Given the description of an element on the screen output the (x, y) to click on. 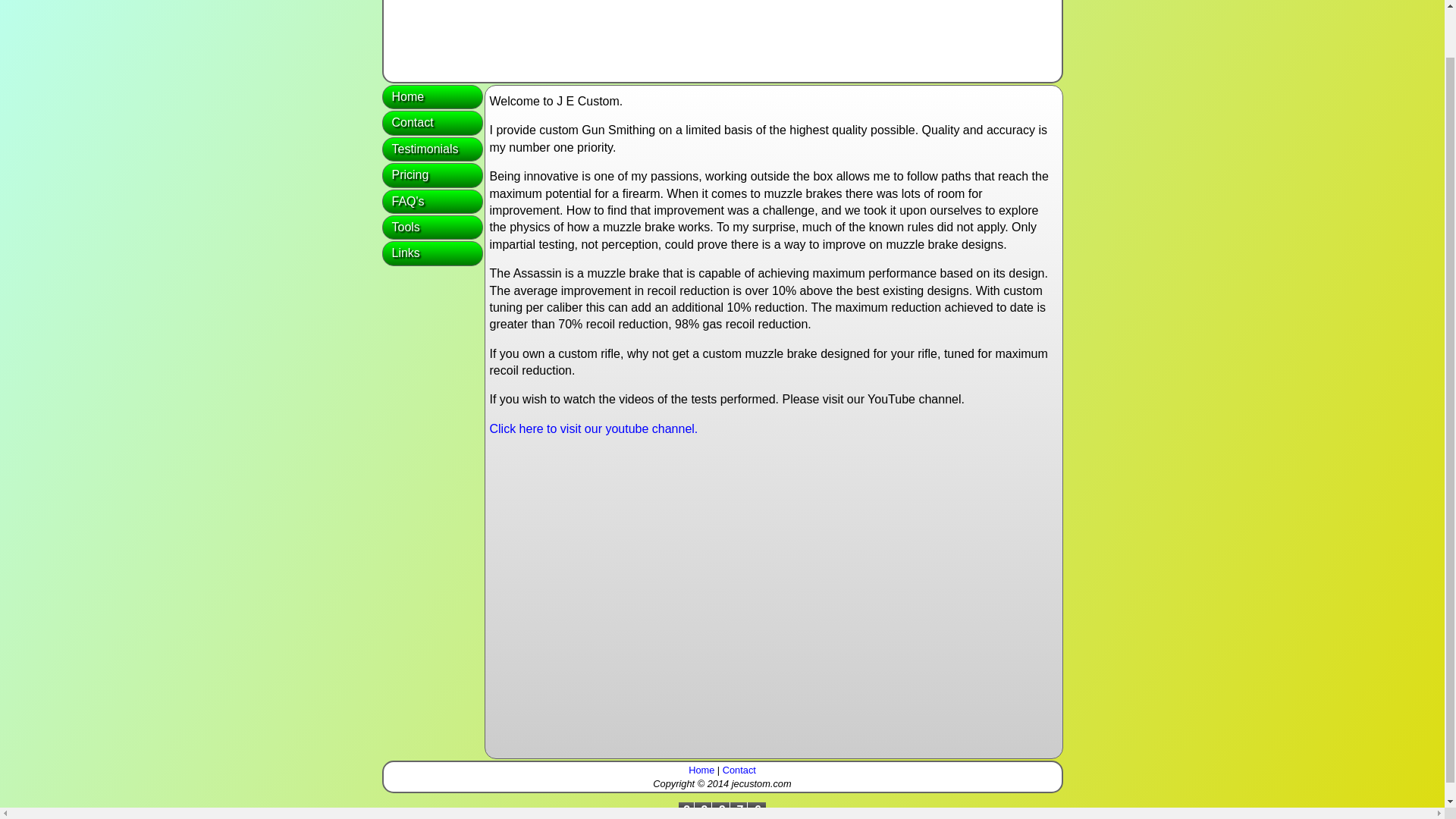
FAQ's (432, 201)
Contact (432, 122)
Contact (738, 769)
Home (701, 769)
Click here to visit our youtube channel. (593, 428)
Home (432, 96)
Links (432, 252)
Tools (432, 227)
Testimonials (432, 149)
Pricing (432, 174)
